Given the description of an element on the screen output the (x, y) to click on. 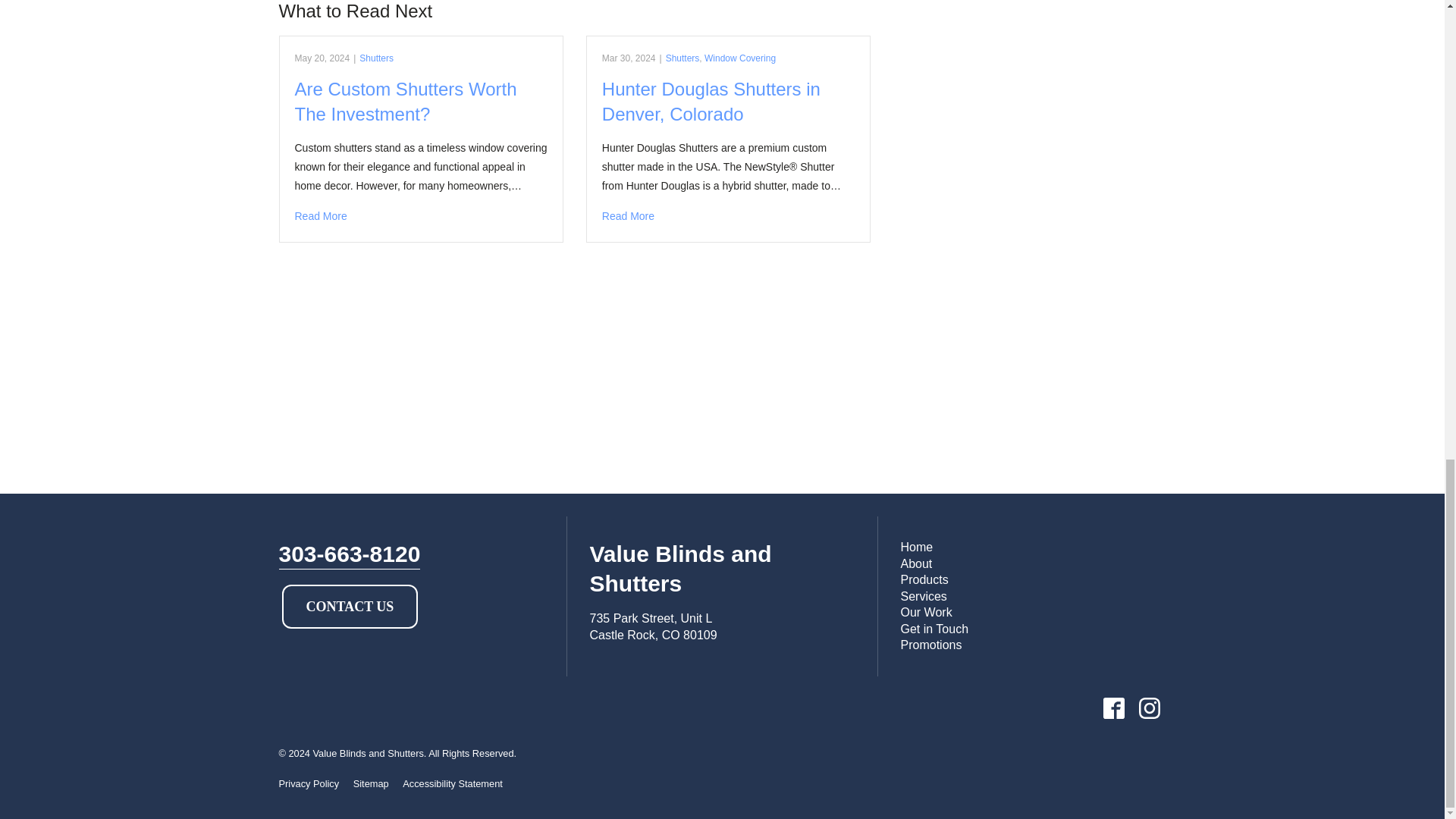
facebook (1113, 707)
Hunter Douglas Shutters in Denver, Colorado (728, 216)
Are Custom Shutters Worth The Investment? (420, 216)
instagram (1149, 707)
